Given the description of an element on the screen output the (x, y) to click on. 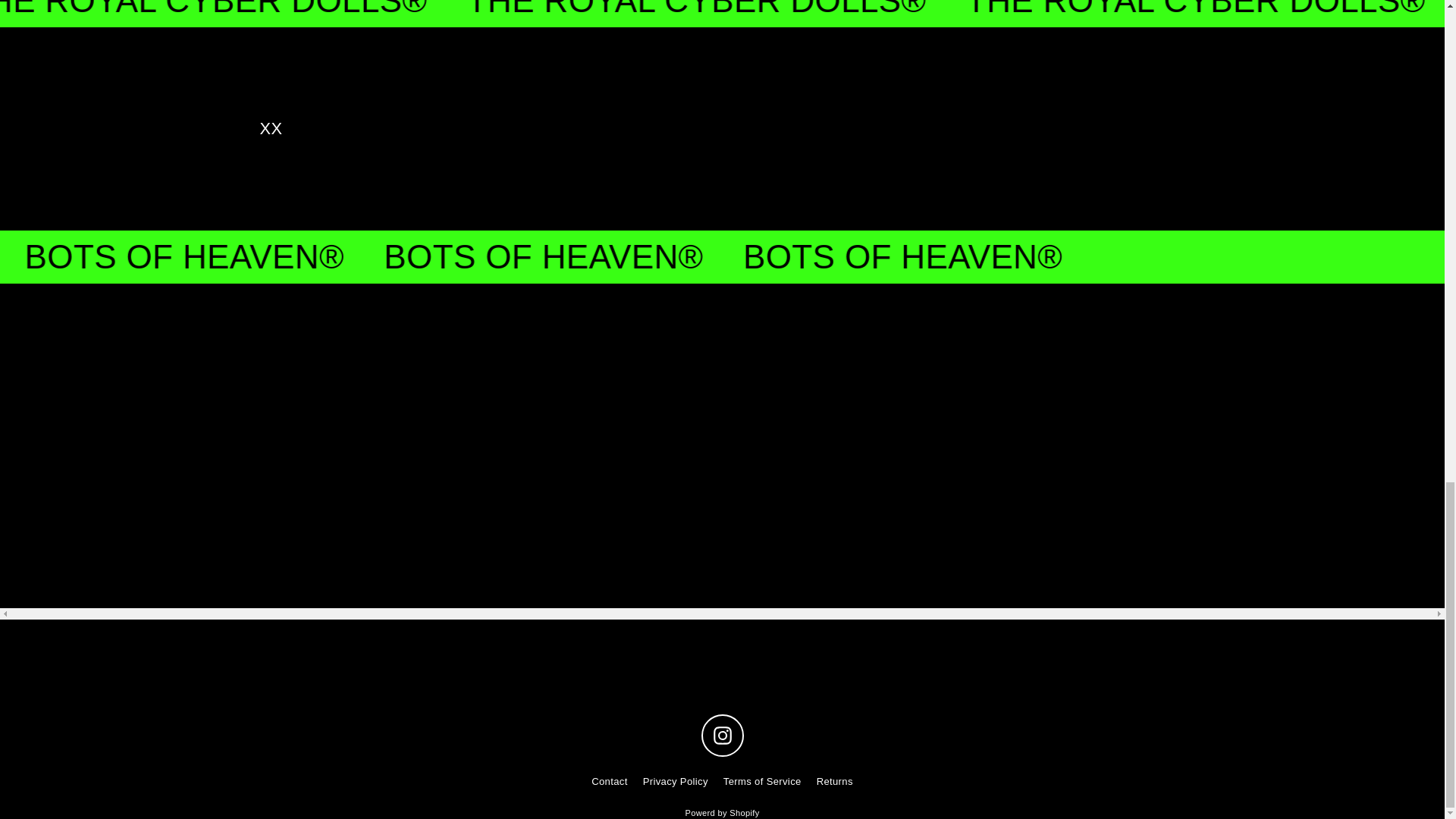
THE ROYAL CYBER DOLLS on Instagram (721, 735)
